Given the description of an element on the screen output the (x, y) to click on. 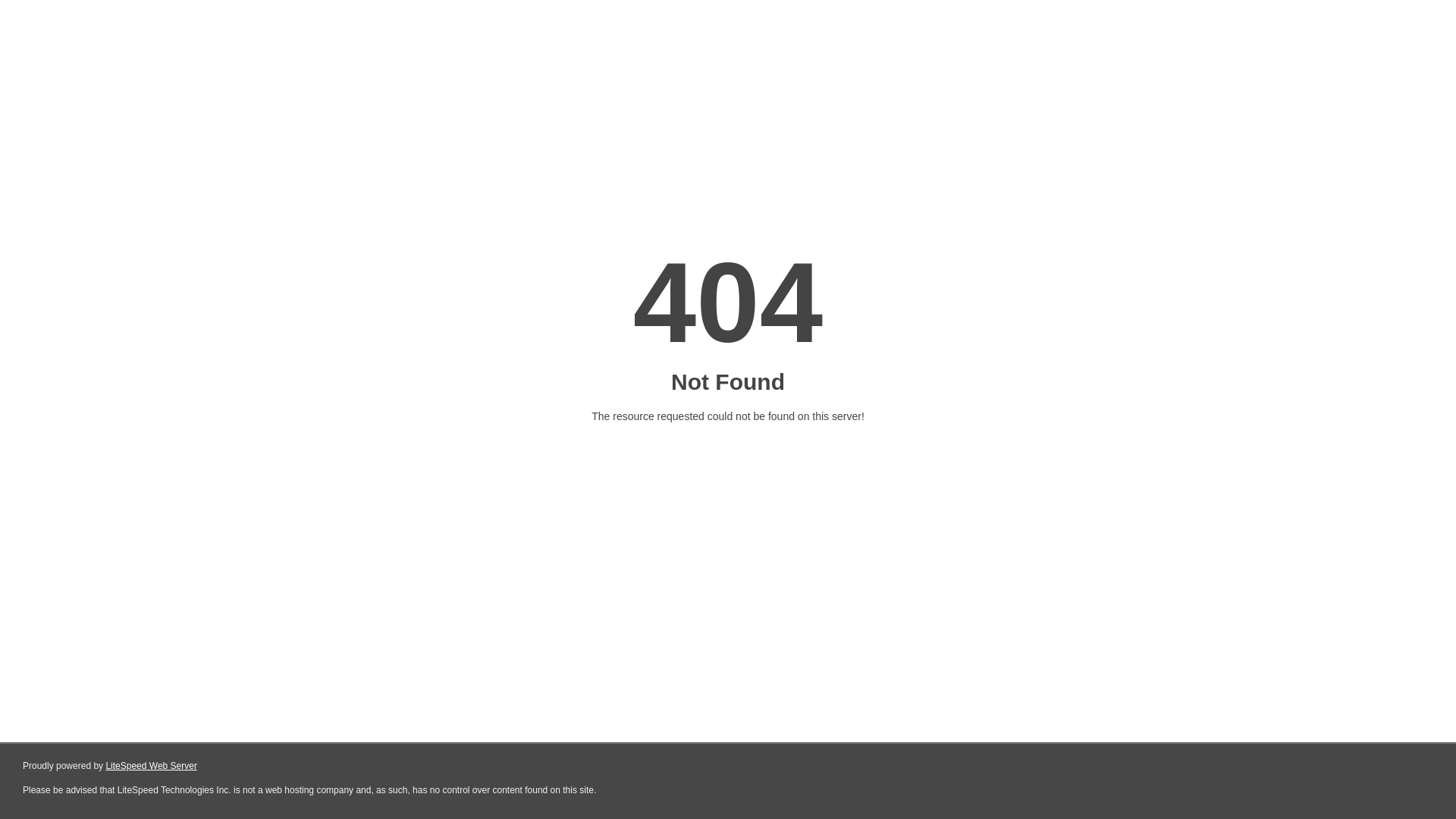
LiteSpeed Web Server Element type: text (151, 765)
